Given the description of an element on the screen output the (x, y) to click on. 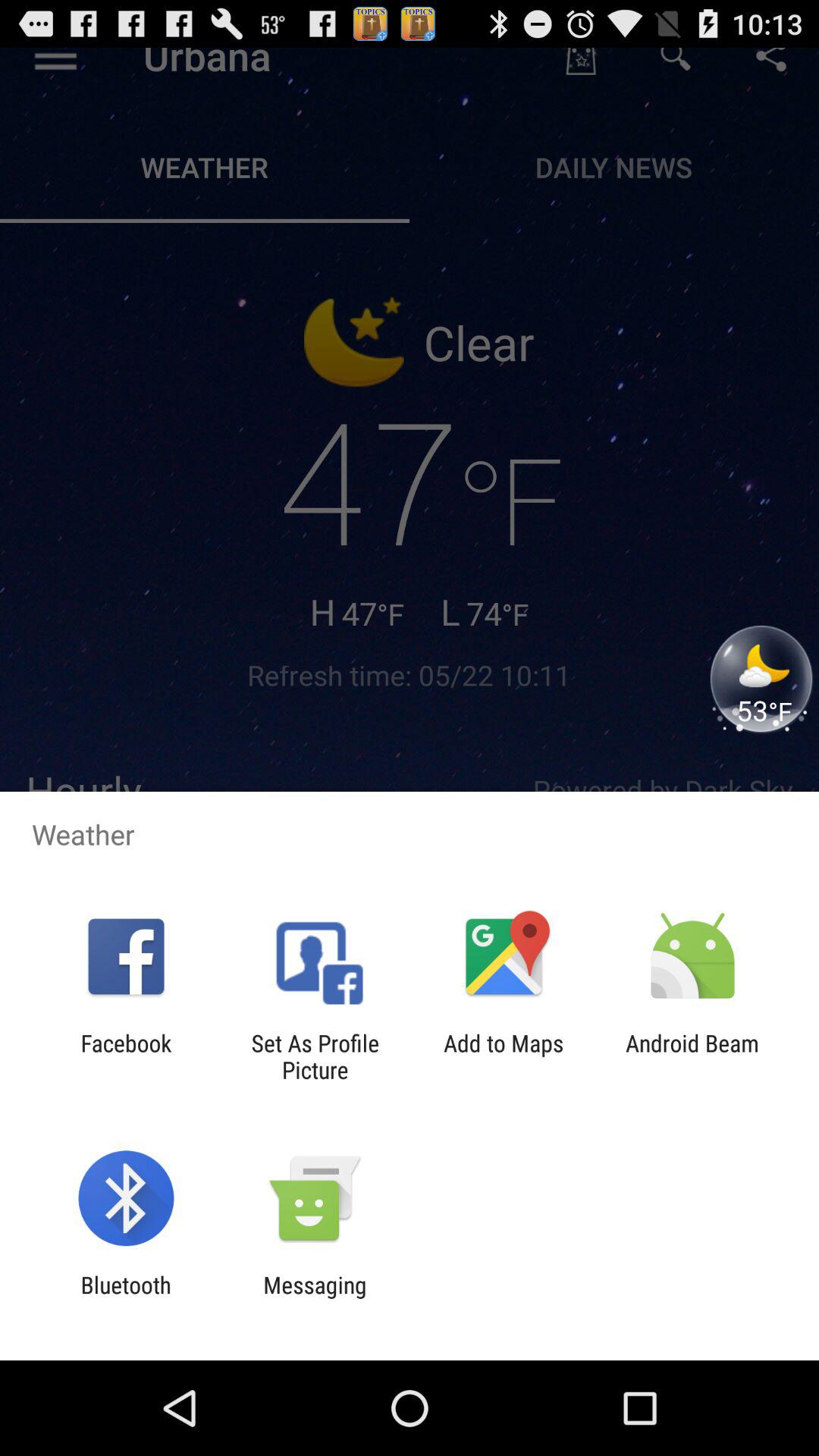
flip to bluetooth icon (125, 1298)
